Given the description of an element on the screen output the (x, y) to click on. 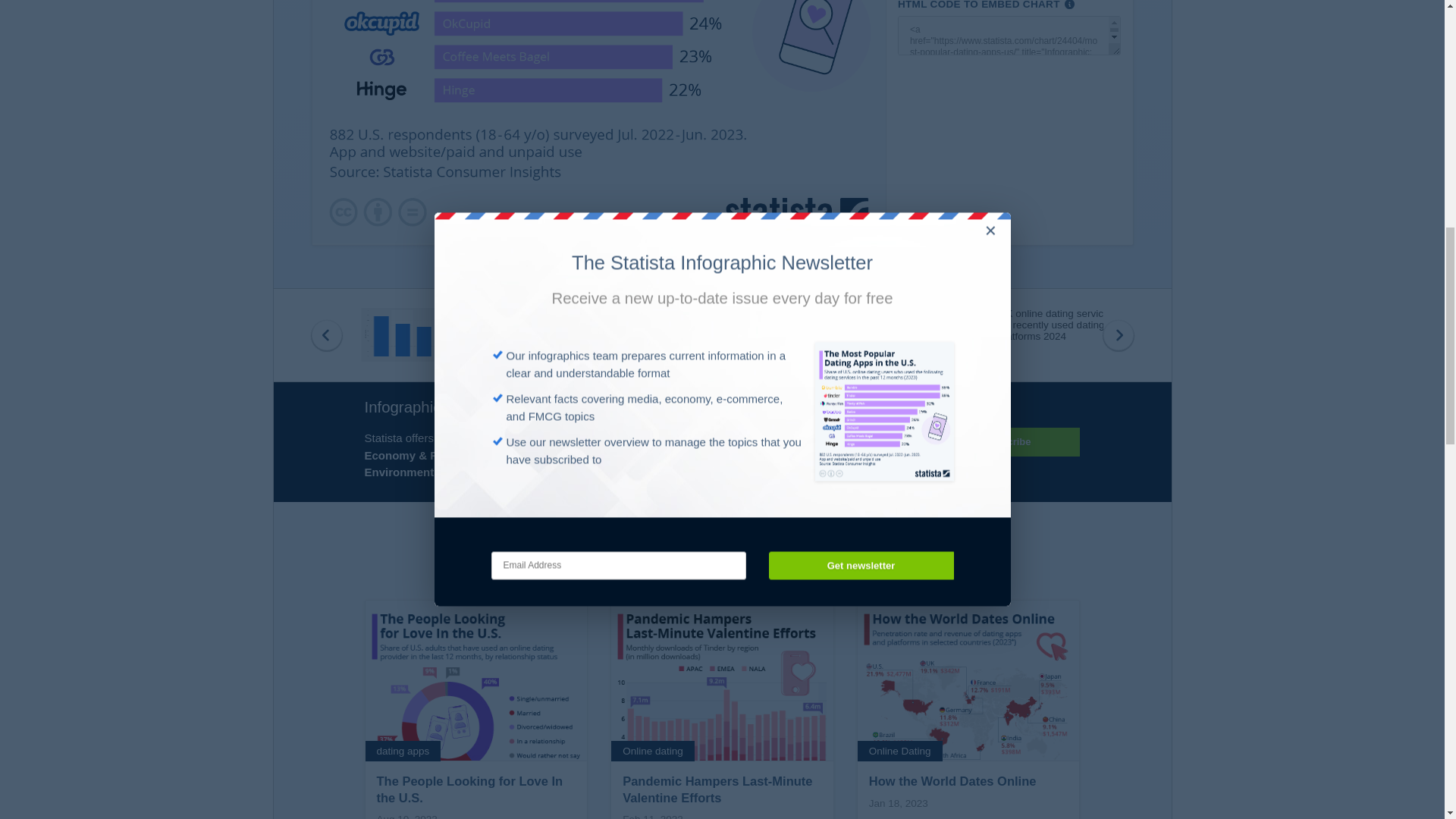
Pandemic Hampers Last-Minute Valentine Efforts (722, 709)
The People Looking for Love In the U.S. (476, 709)
How the World Dates Online (968, 709)
